Given the description of an element on the screen output the (x, y) to click on. 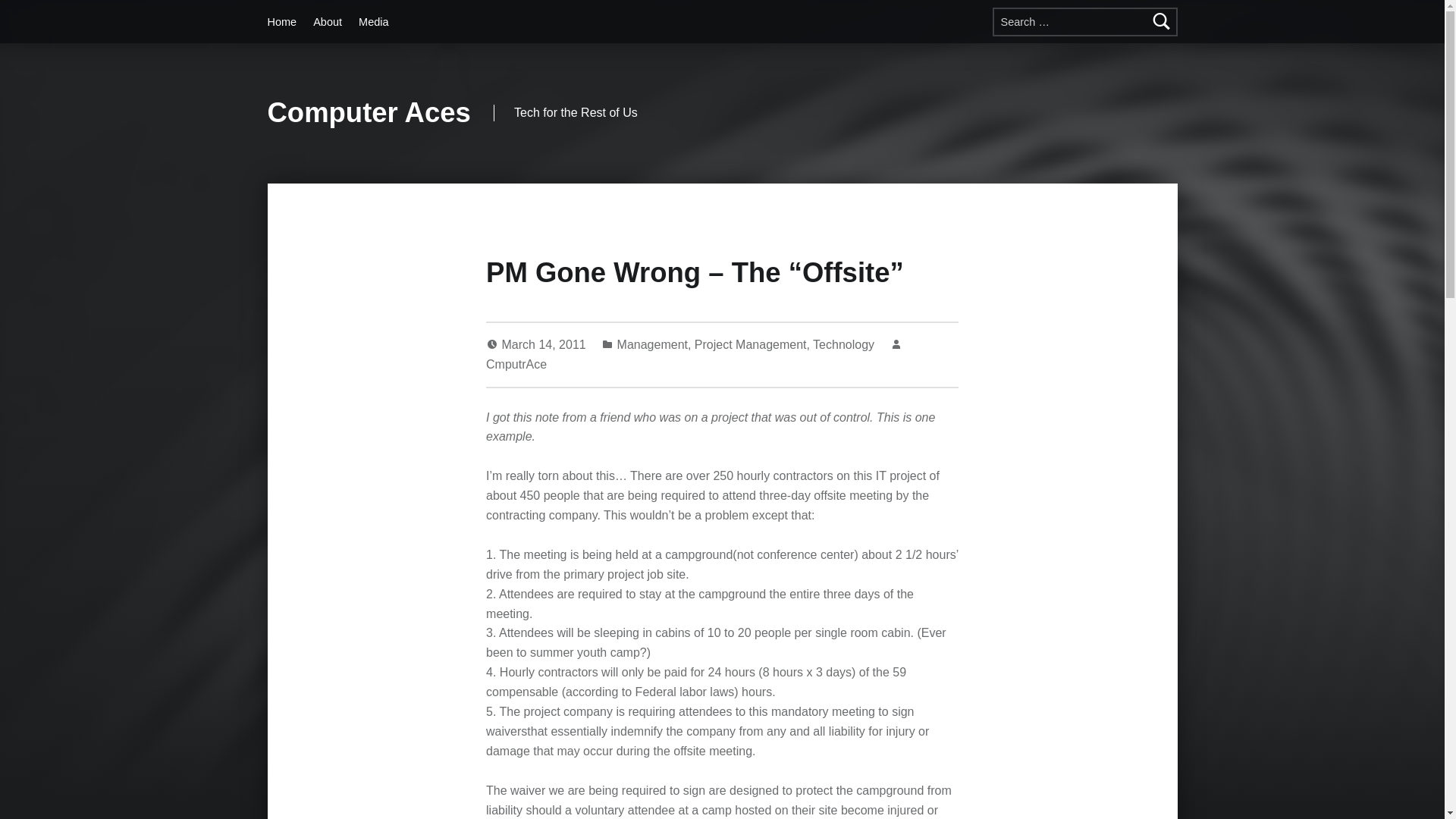
March 14, 2011 (545, 344)
Search (1162, 21)
Posted on: March 14, 2011 (545, 344)
Management (652, 344)
Technology (843, 344)
CmputrAce (516, 364)
Search (1162, 21)
Search (1162, 21)
Computer Aces (368, 112)
Project Management (750, 344)
